Given the description of an element on the screen output the (x, y) to click on. 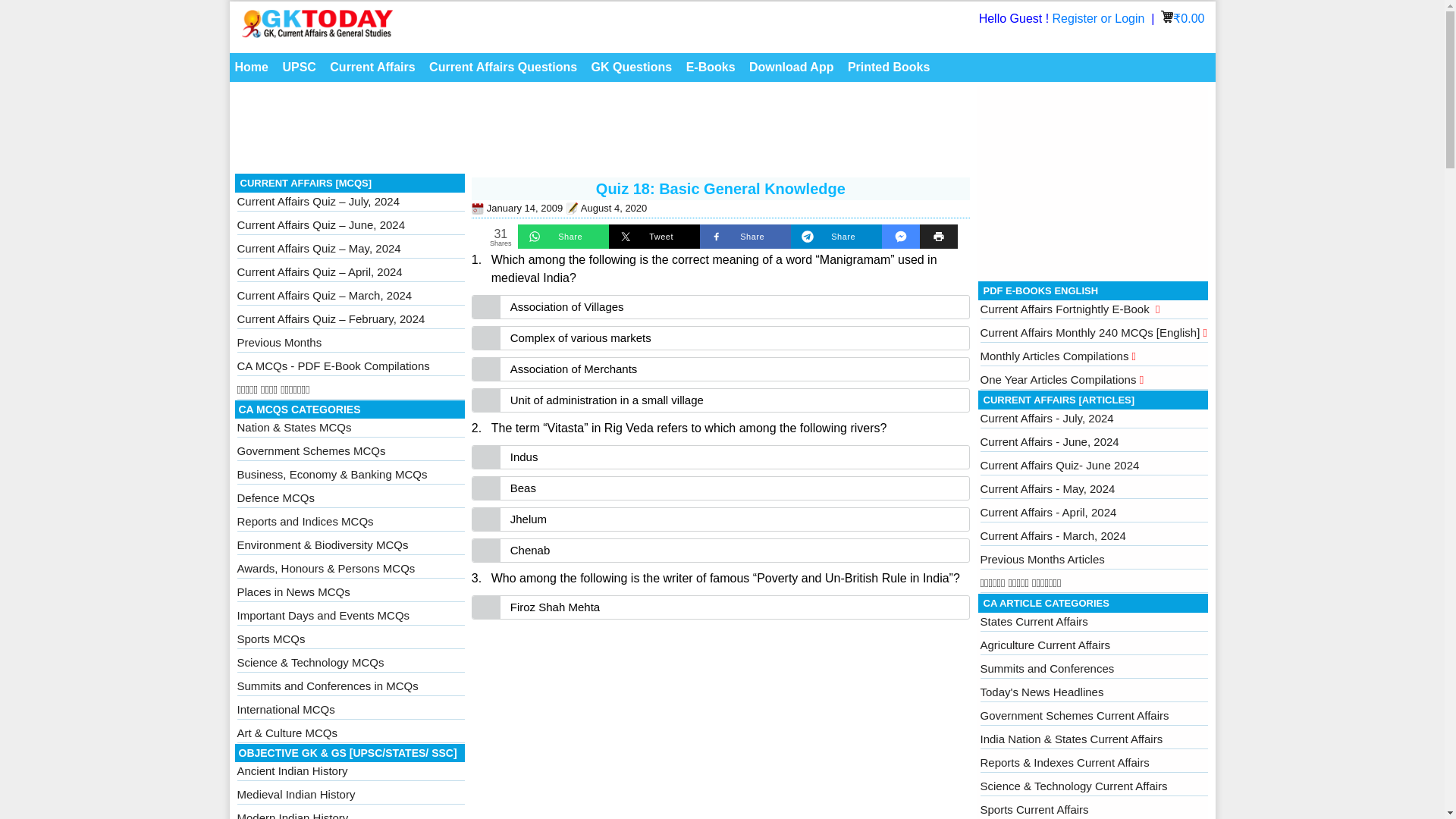
E-Books (711, 67)
Printed Books (888, 67)
GK Questions (632, 67)
Home (250, 67)
Advertisement (1093, 181)
Current Affairs Questions (502, 67)
Advertisement (602, 131)
Register or Login (1100, 18)
Advertisement (720, 722)
UPSC (298, 67)
Previous Months (278, 341)
Download App (791, 67)
Current Affairs (372, 67)
